Given the description of an element on the screen output the (x, y) to click on. 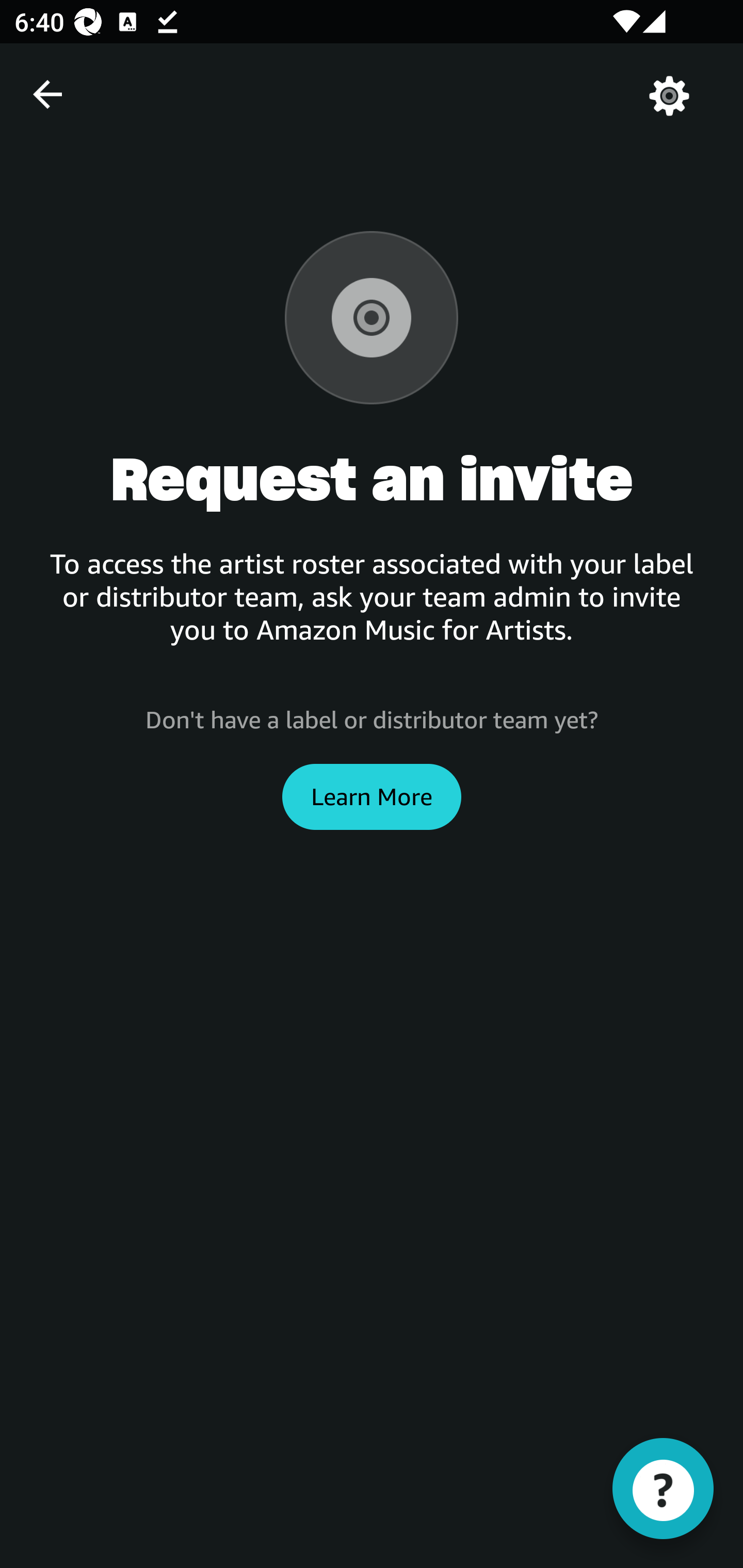
Learn more button Learn More (371, 796)
